Given the description of an element on the screen output the (x, y) to click on. 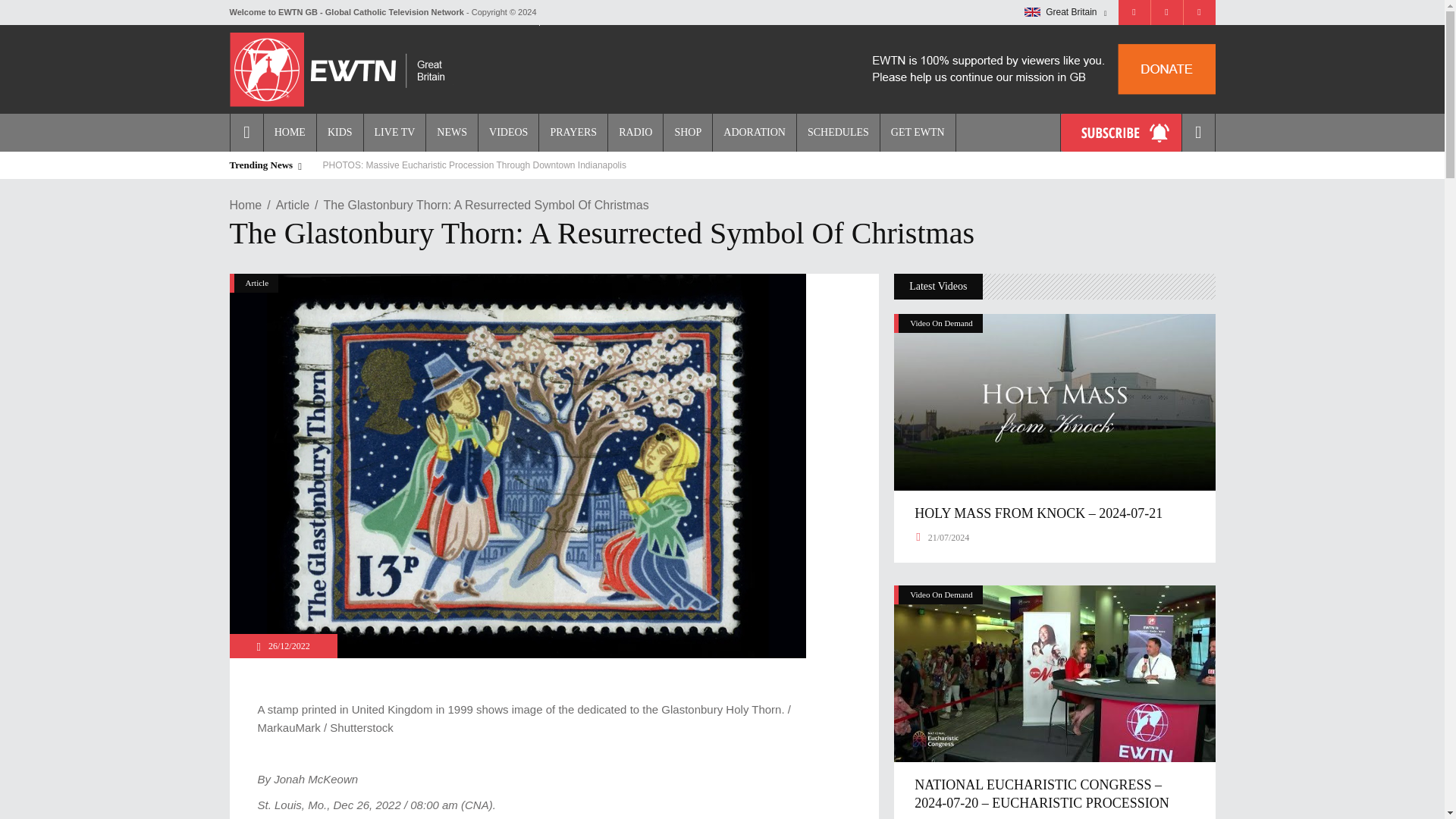
NEWS (451, 132)
RADIO (634, 132)
KIDS (338, 132)
VIDEOS (507, 132)
HOME (289, 132)
SCHEDULES (837, 132)
Great Britain (1033, 11)
  Great Britain (1065, 12)
ADORATION (753, 132)
GET EWTN (917, 132)
LIVE TV (394, 132)
PRAYERS (572, 132)
SHOP (686, 132)
